Given the description of an element on the screen output the (x, y) to click on. 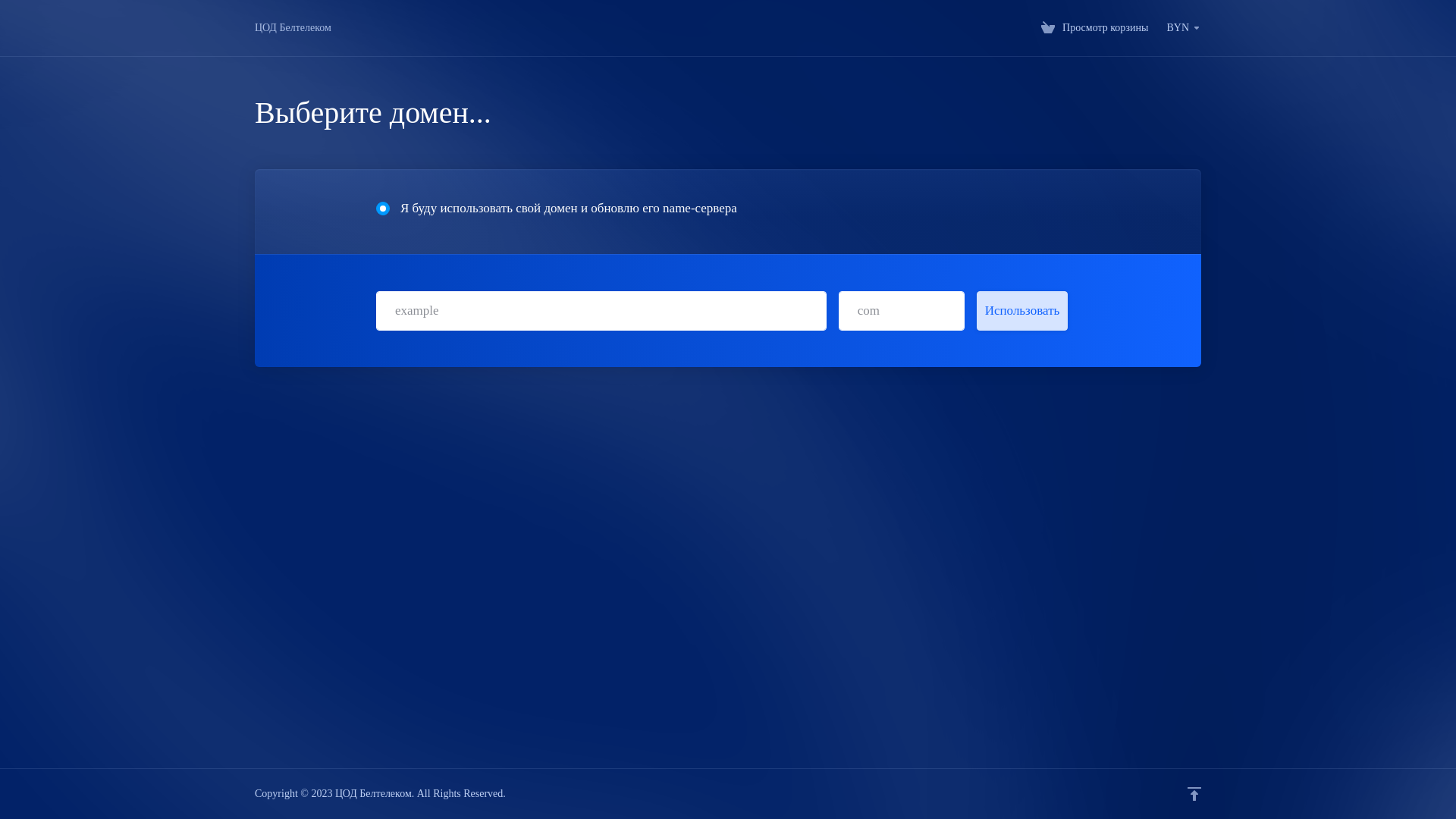
BYN Element type: text (1183, 27)
